Given the description of an element on the screen output the (x, y) to click on. 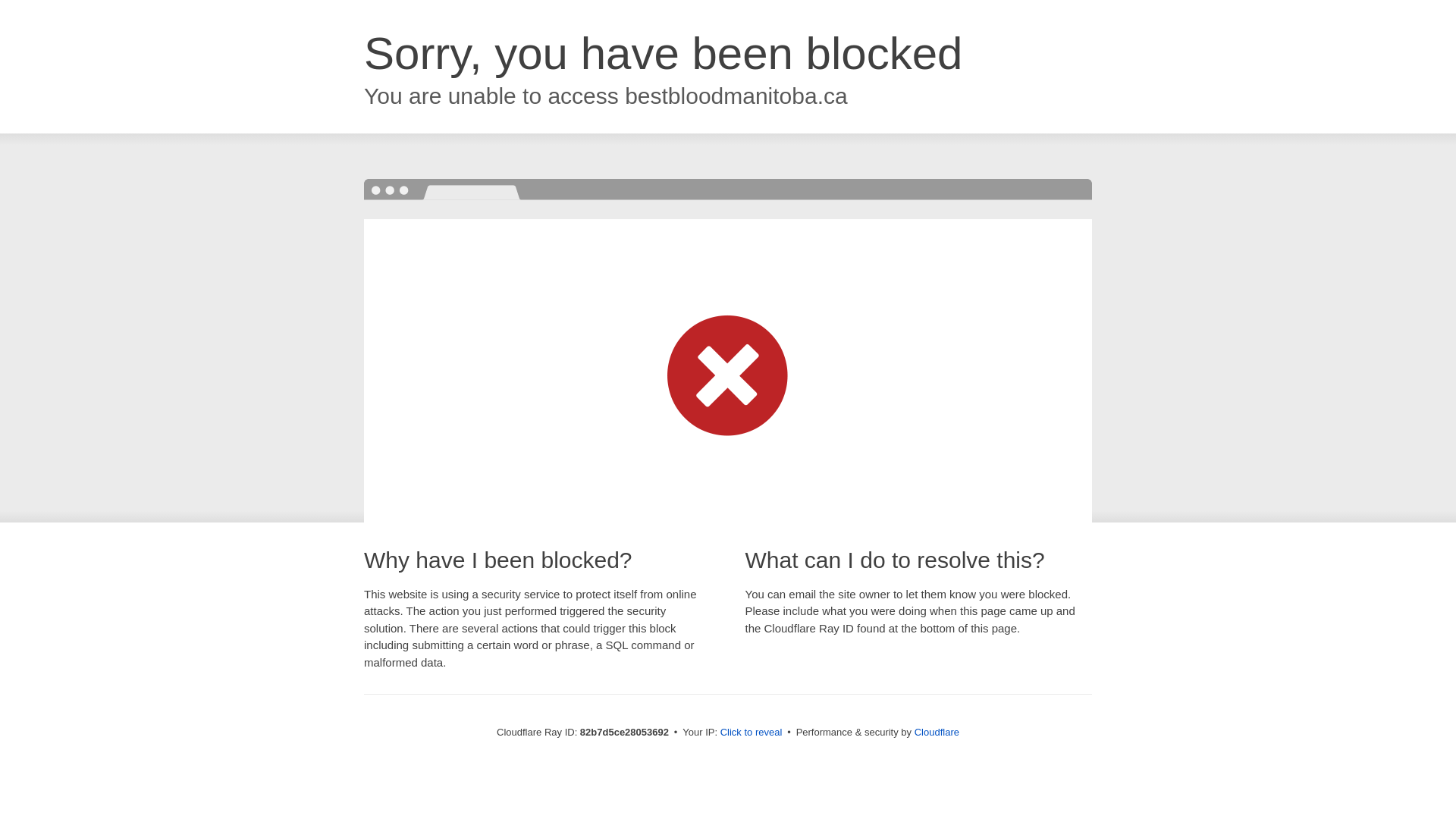
Click to reveal Element type: text (751, 732)
Cloudflare Element type: text (936, 731)
